Given the description of an element on the screen output the (x, y) to click on. 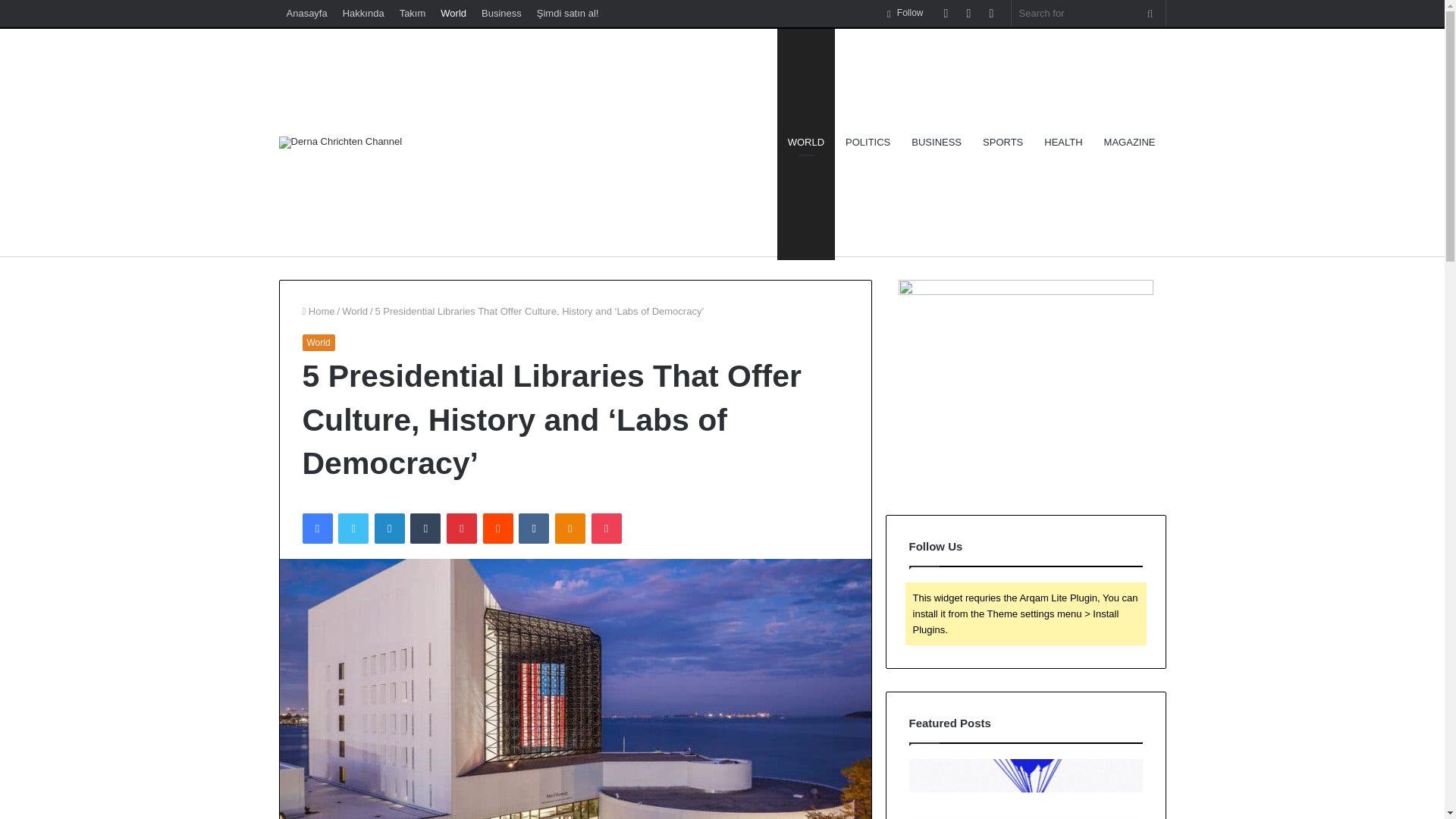
VKontakte (533, 528)
Pinterest (461, 528)
Facebook (316, 528)
Derna Chrichten Channel (341, 142)
Random Article (968, 13)
Follow (905, 13)
World (453, 13)
Tumblr (425, 528)
SPORTS (1002, 142)
Twitter (352, 528)
Search for (1150, 13)
BUSINESS (936, 142)
World (355, 310)
MAGAZINE (1129, 142)
Business (501, 13)
